Given the description of an element on the screen output the (x, y) to click on. 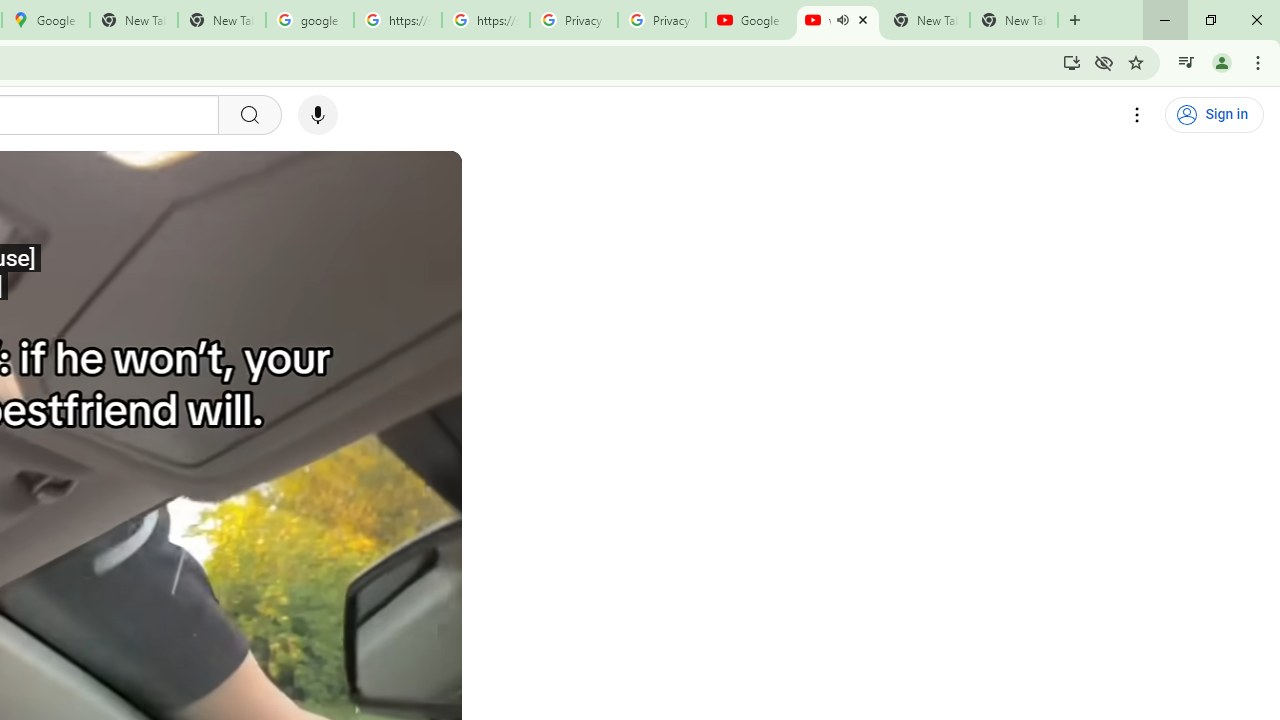
https://scholar.google.com/ (485, 20)
https://scholar.google.com/ (397, 20)
Install YouTube (1071, 62)
